Given the description of an element on the screen output the (x, y) to click on. 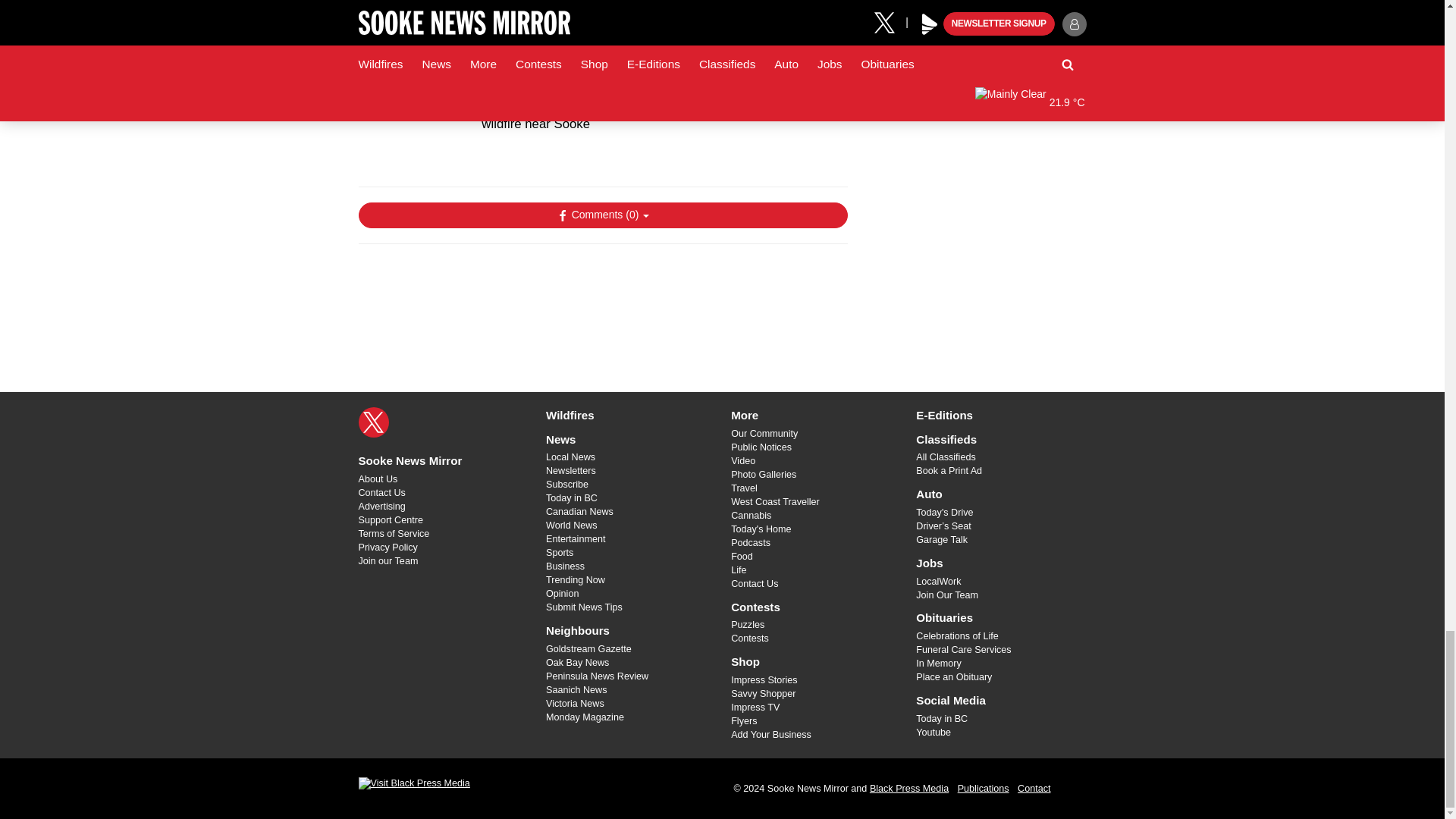
Show Comments (602, 215)
X (373, 422)
